Given the description of an element on the screen output the (x, y) to click on. 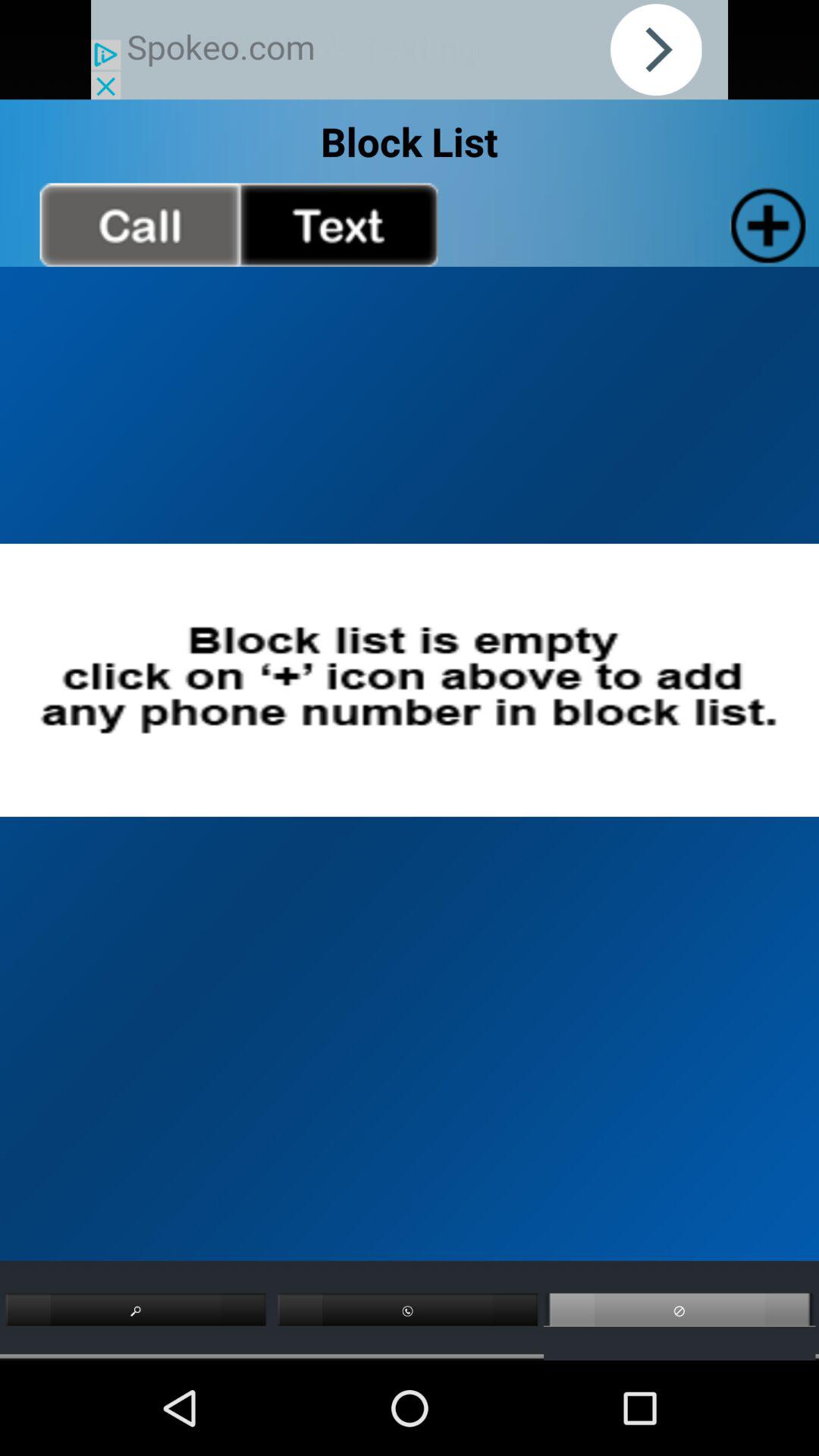
advertisement (409, 49)
